Given the description of an element on the screen output the (x, y) to click on. 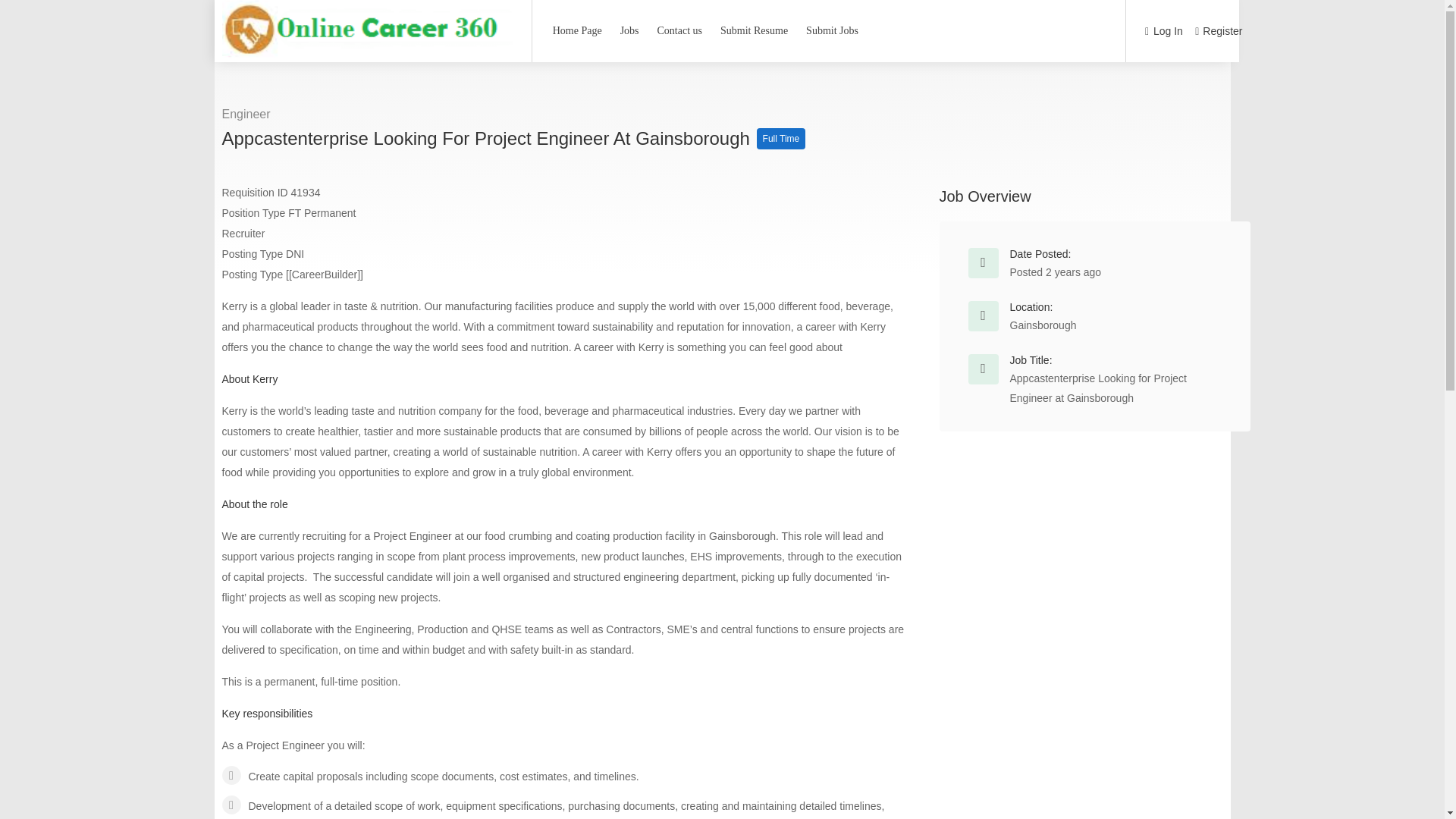
Home Page (577, 30)
Jobs (629, 30)
Contact us (680, 30)
Engineer (245, 113)
Submit Jobs (831, 30)
Submit Resume (753, 30)
